Given the description of an element on the screen output the (x, y) to click on. 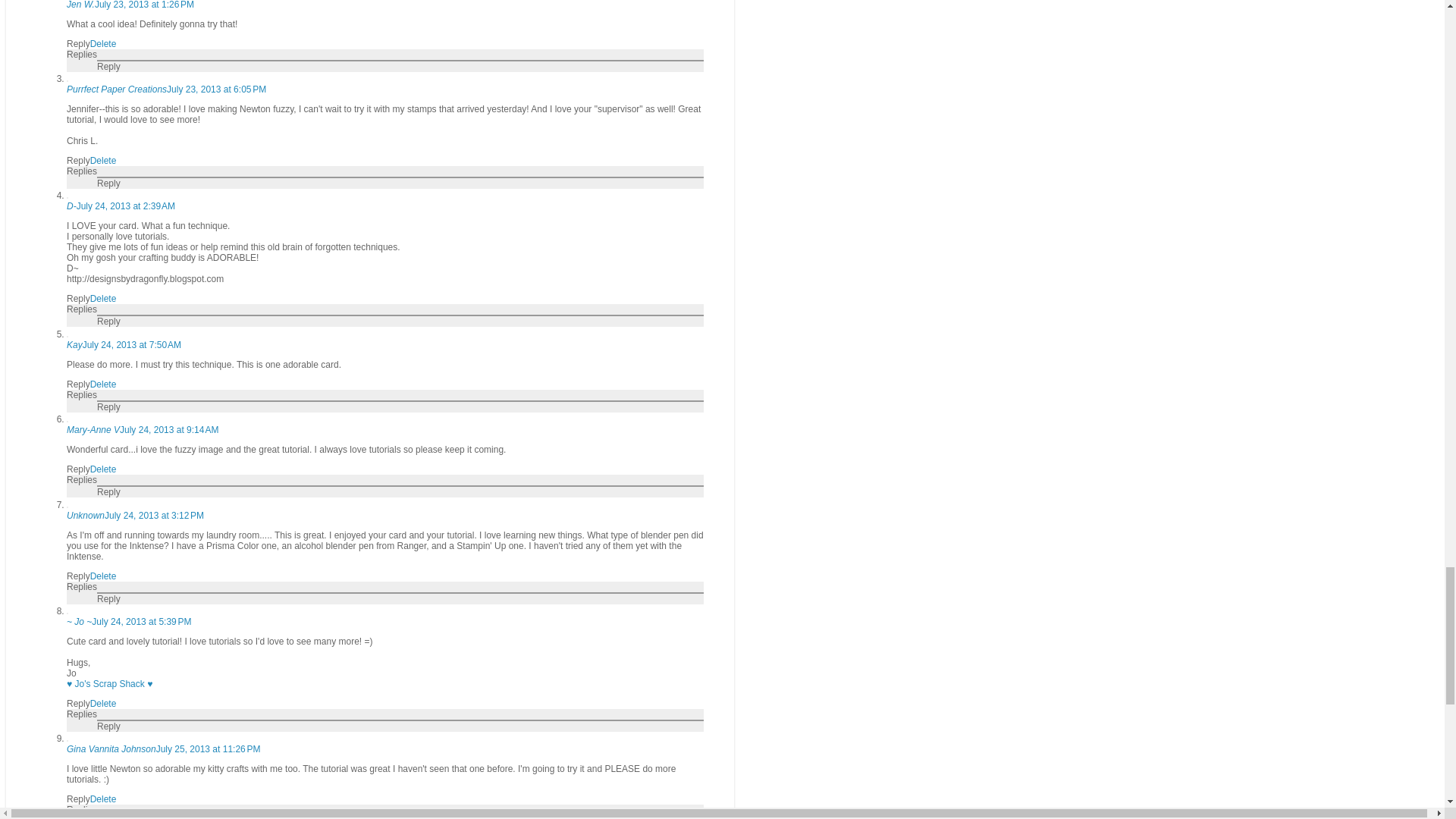
Purrfect Paper Creations (116, 89)
Reply (78, 43)
Replies (81, 54)
Delete (103, 160)
Replies (81, 171)
Reply (108, 66)
Delete (103, 43)
Reply (78, 160)
Jen W. (80, 4)
